Given the description of an element on the screen output the (x, y) to click on. 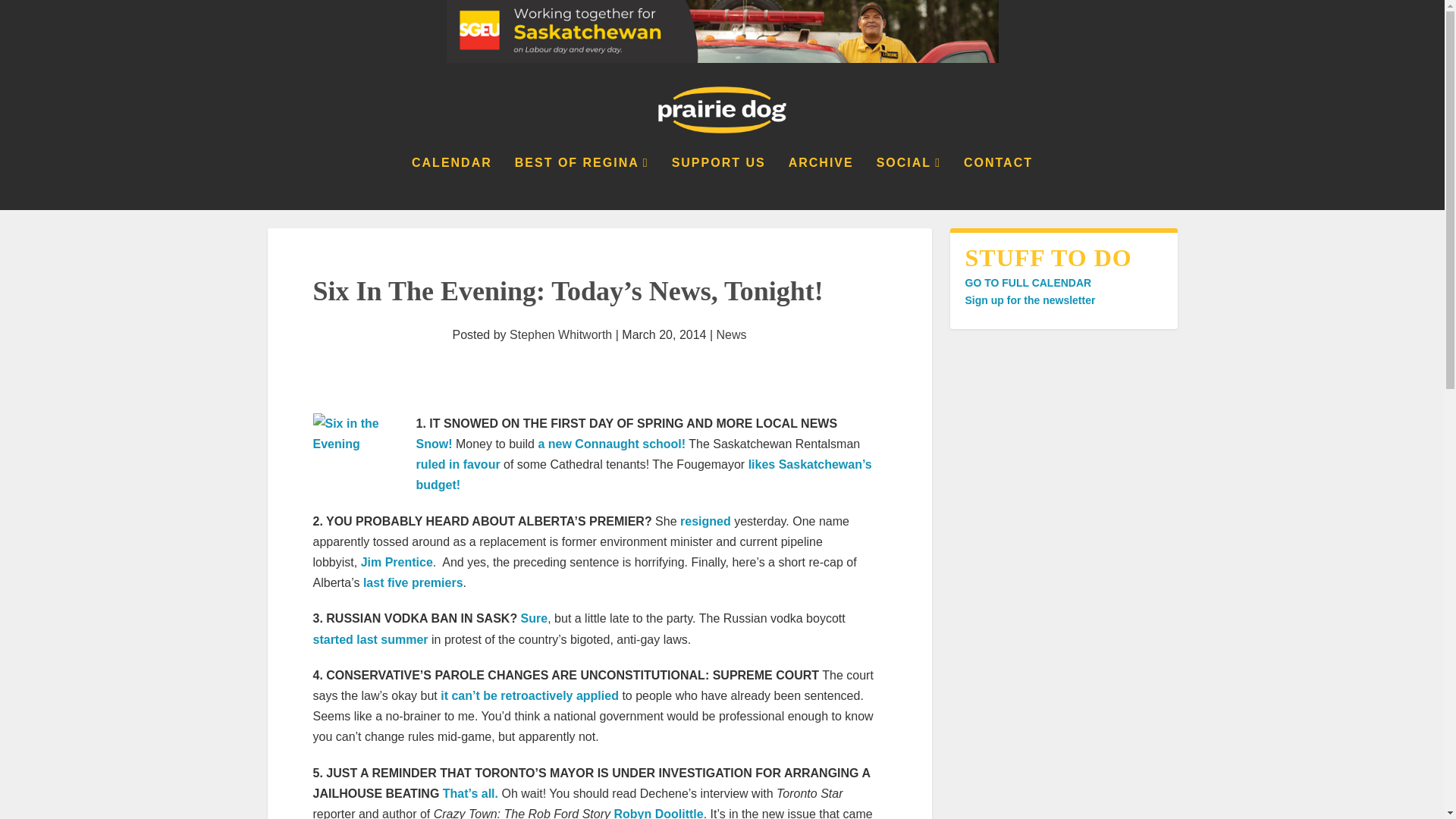
SOCIAL (908, 183)
CJME (432, 443)
CJME (611, 443)
Edmonton Journal (704, 521)
CALENDAR (452, 183)
Robyn Doolittle (657, 813)
CONTACT (997, 183)
CBC (534, 617)
Posts by Stephen Whitworth (560, 334)
Sure (534, 617)
